Given the description of an element on the screen output the (x, y) to click on. 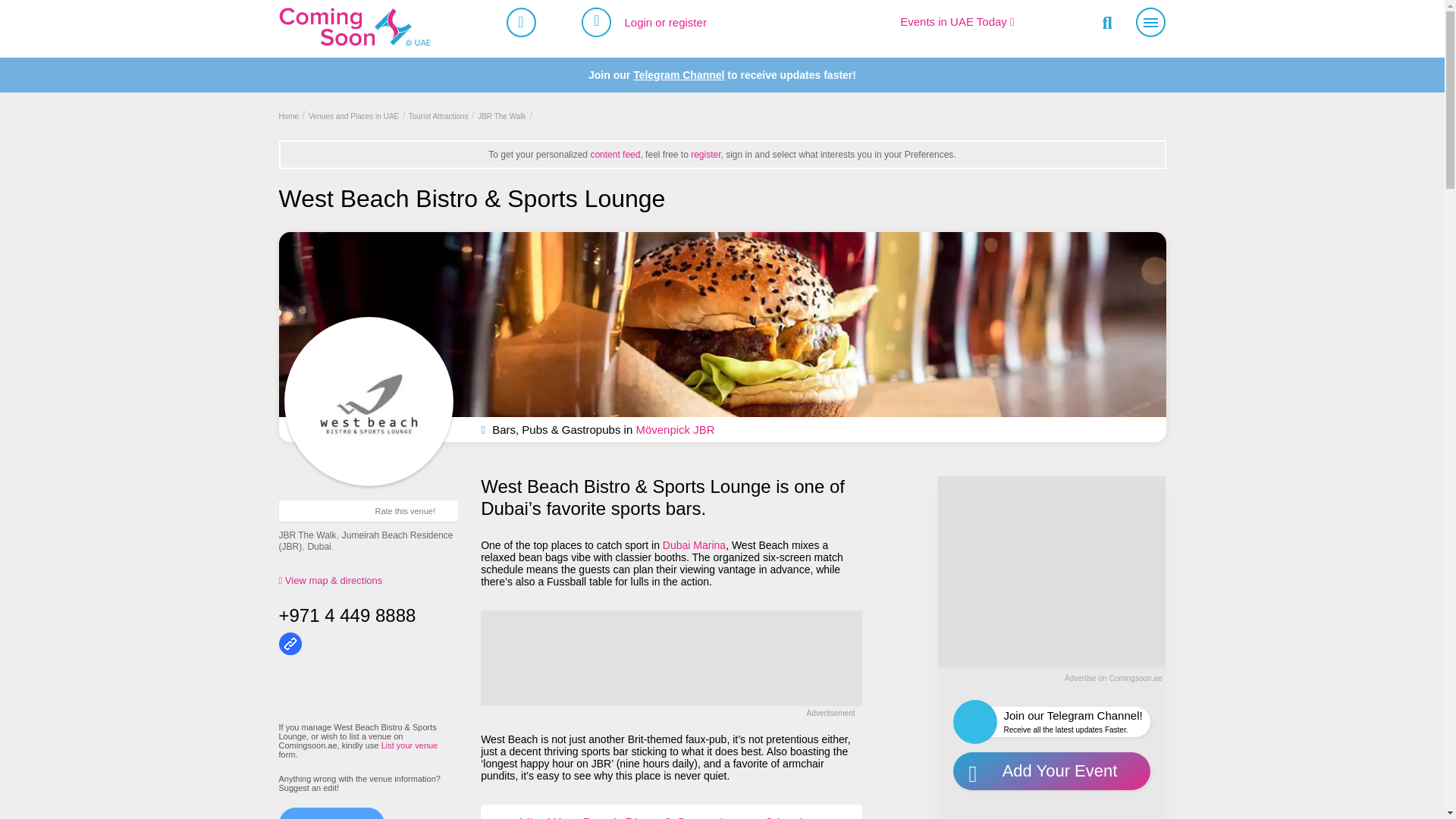
Advertisement (1051, 570)
Events in UAE Today (956, 21)
Login or register (665, 21)
Advertisement (670, 657)
